Given the description of an element on the screen output the (x, y) to click on. 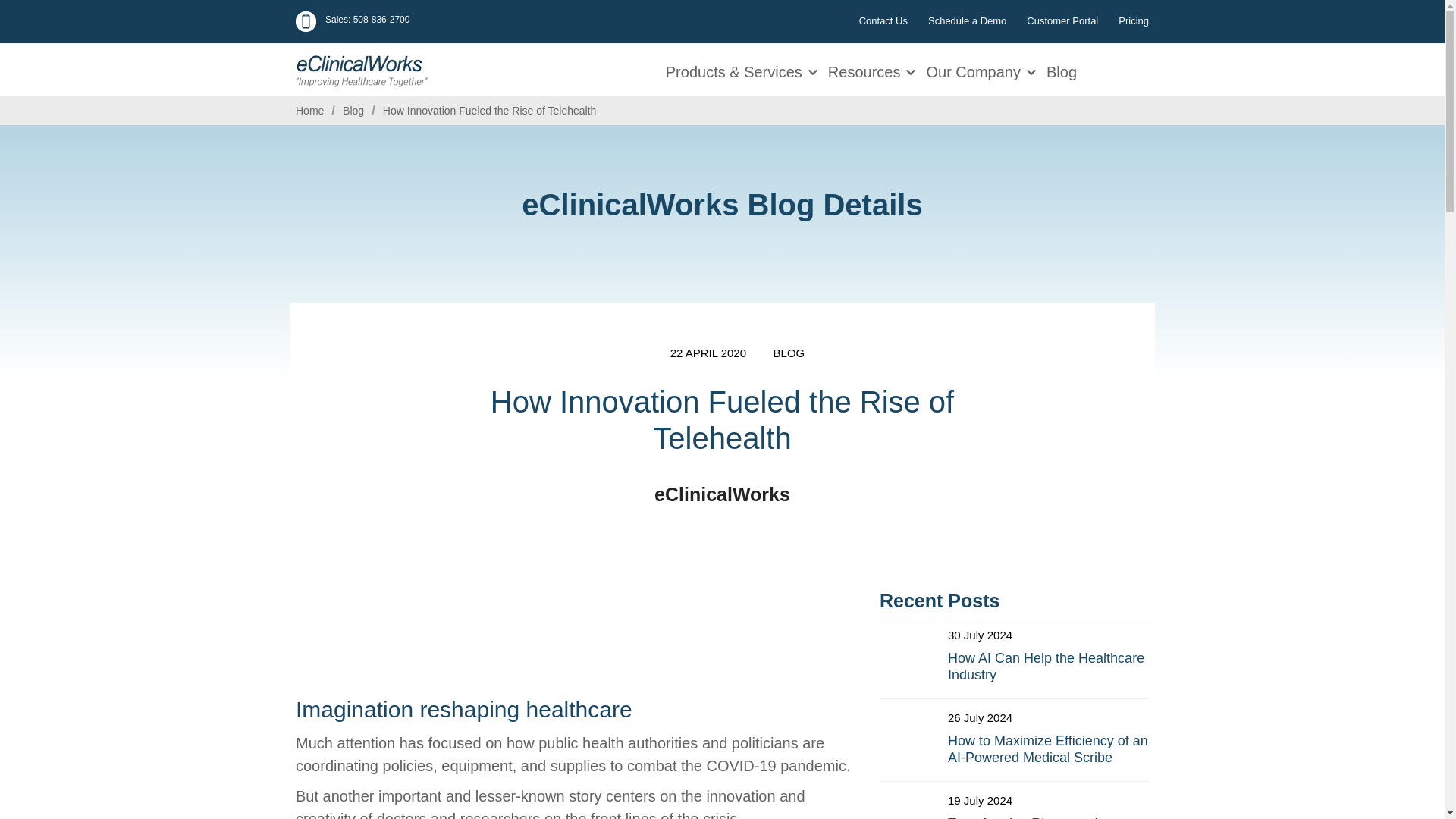
Pricing (1133, 20)
Our Company (975, 69)
Customer Portal (1061, 20)
Customer Portal (1061, 20)
Home (309, 110)
Blog (1063, 69)
Resources (865, 69)
Contact Us (883, 20)
Pricing (1133, 20)
Contact Us (883, 20)
Schedule a Demo (967, 20)
Blog (353, 110)
